Given the description of an element on the screen output the (x, y) to click on. 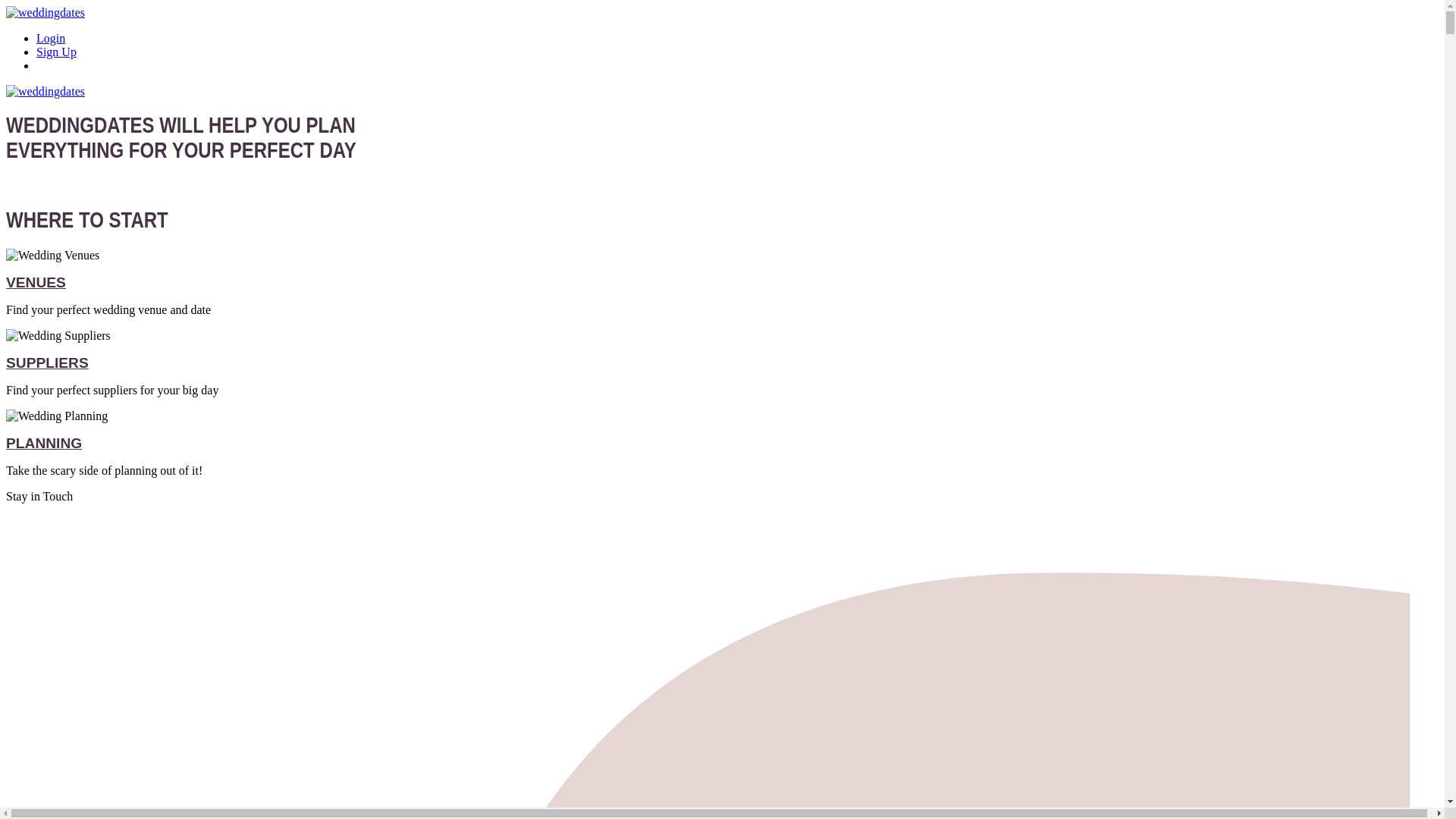
VENUES (35, 282)
Login (50, 38)
weddingdates (44, 91)
Sign Up (56, 51)
SUPPLIERS (46, 362)
PLANNING (43, 442)
weddingdates (44, 12)
